Given the description of an element on the screen output the (x, y) to click on. 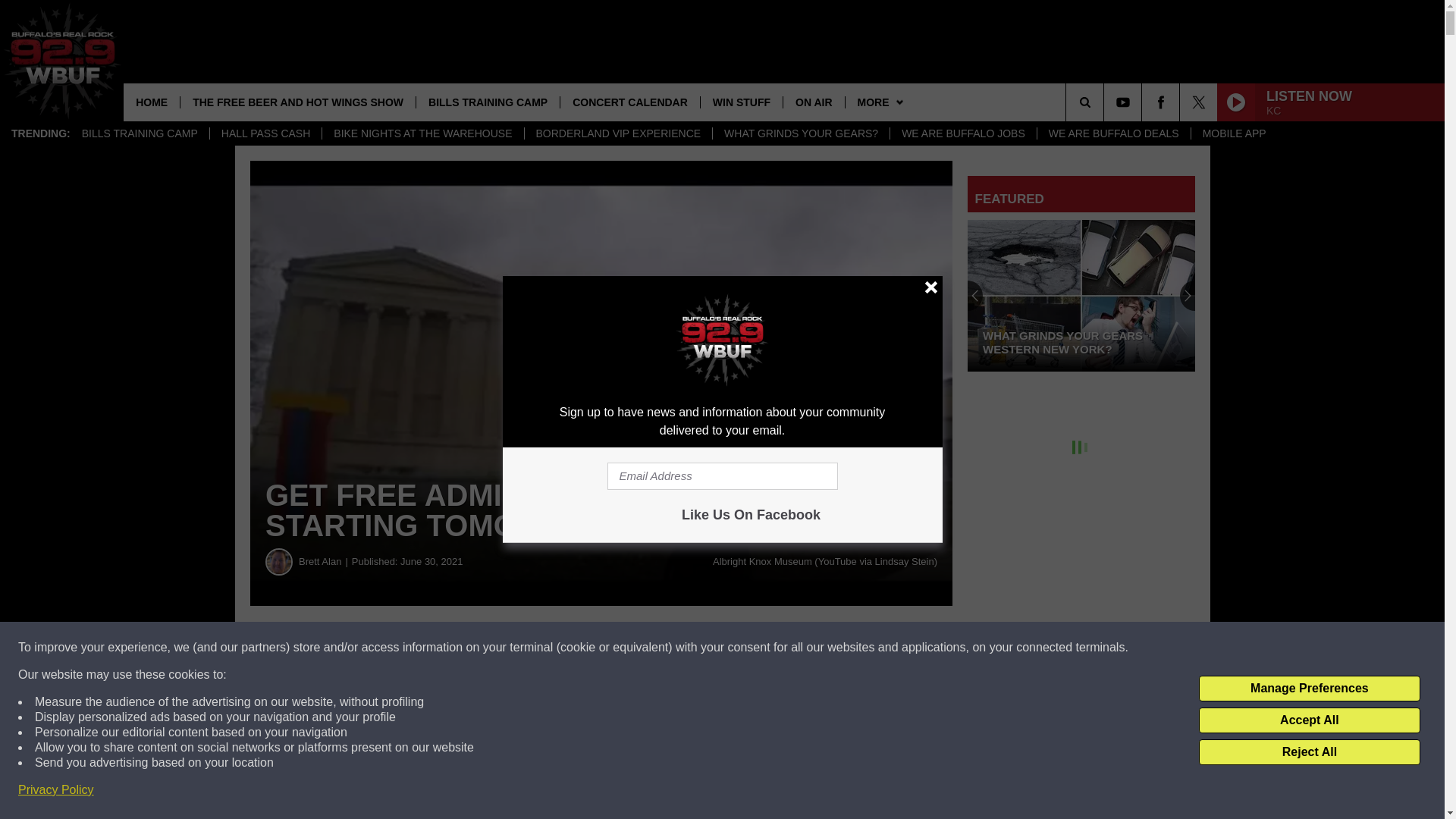
MOBILE APP (1234, 133)
Accept All (1309, 720)
Share on Facebook (460, 647)
Manage Preferences (1309, 688)
WHAT GRINDS YOUR GEARS? (800, 133)
BILLS TRAINING CAMP (486, 102)
WE ARE BUFFALO DEALS (1113, 133)
THE FREE BEER AND HOT WINGS SHOW (296, 102)
WE ARE BUFFALO JOBS (962, 133)
SEARCH (1106, 102)
HALL PASS CASH (265, 133)
HOME (151, 102)
BORDERLAND VIP EXPERIENCE (616, 133)
SEARCH (1106, 102)
Reject All (1309, 751)
